Given the description of an element on the screen output the (x, y) to click on. 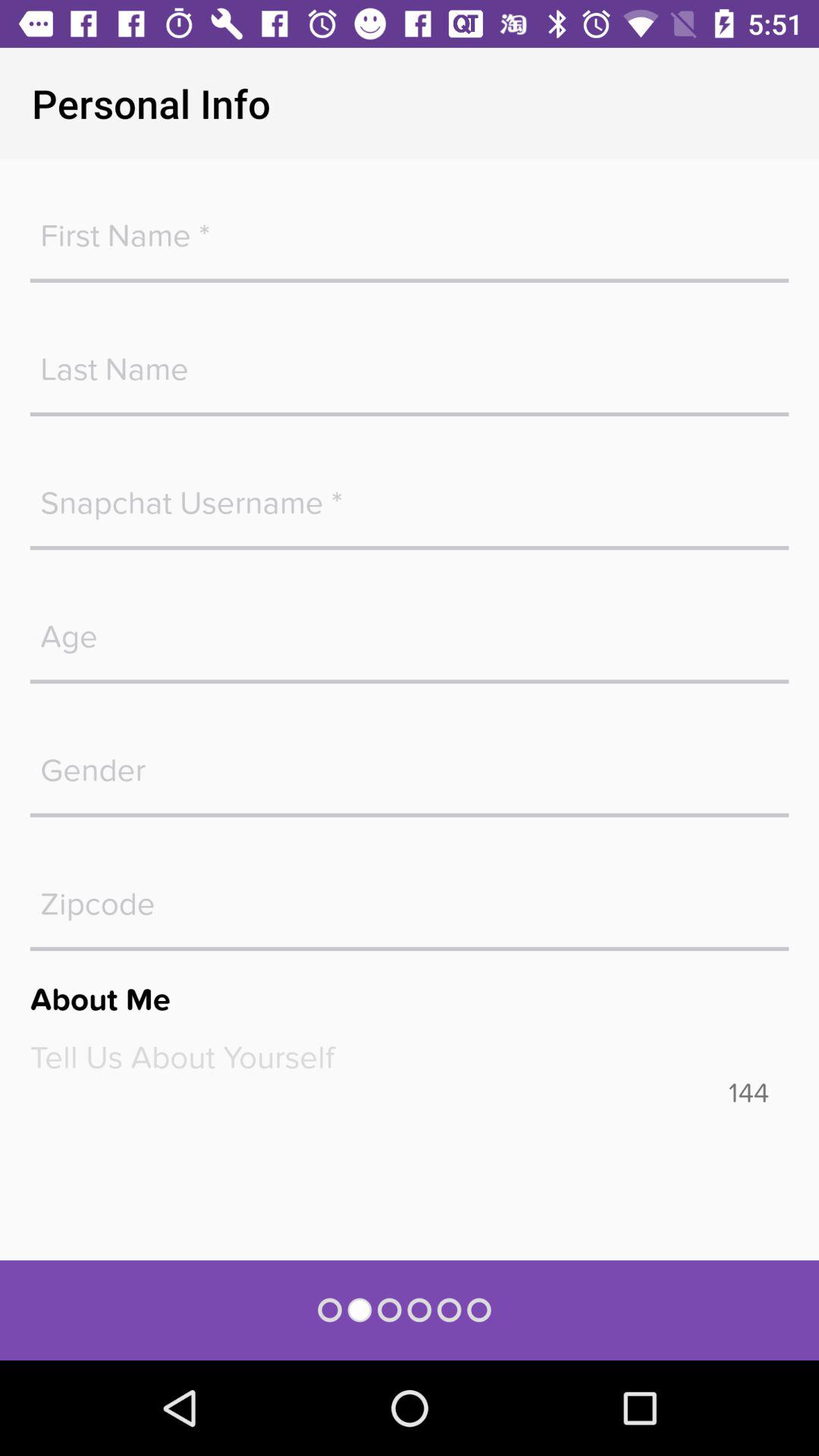
blank space (409, 495)
